Given the description of an element on the screen output the (x, y) to click on. 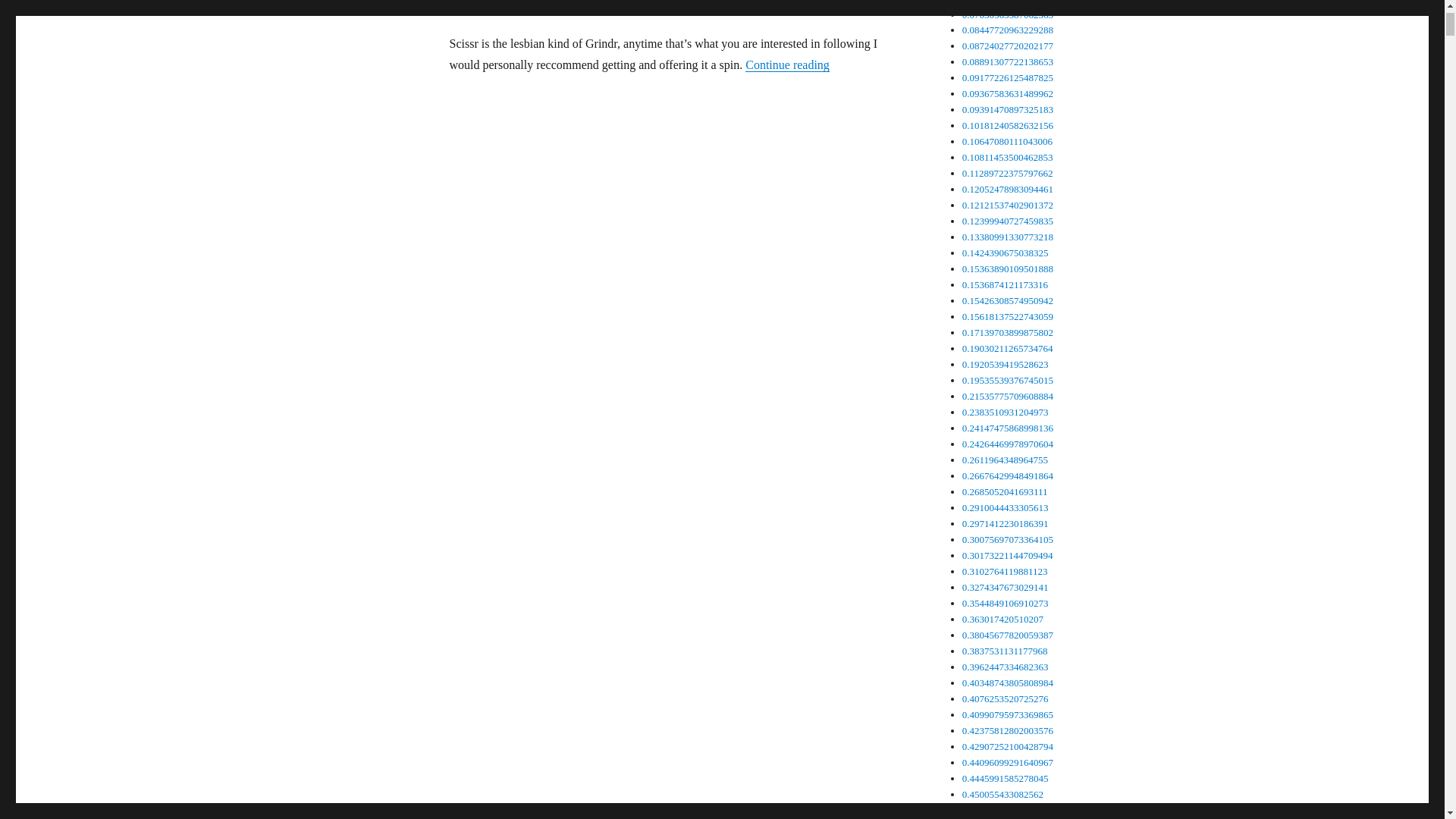
0.10647080111043006 (1007, 141)
0.08724027720202177 (1007, 45)
0.038674021625345056 (1010, 2)
0.09177226125487825 (1007, 77)
0.09367583631489962 (1007, 93)
0.08891307722138653 (1007, 61)
0.07030565587062365 (1007, 14)
0.10811453500462853 (1007, 156)
0.08447720963229288 (1007, 30)
0.10181240582632156 (1007, 125)
